Given the description of an element on the screen output the (x, y) to click on. 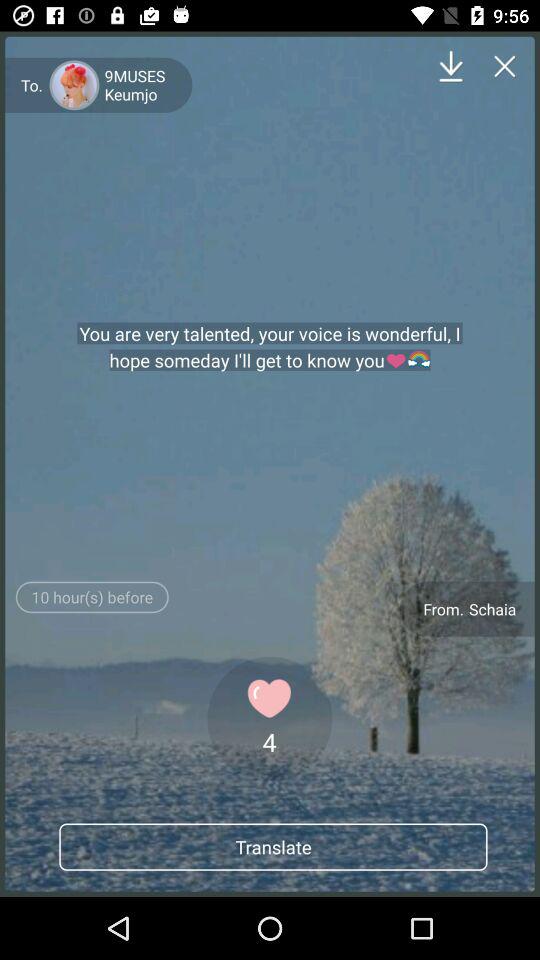
choose item to the right of the 9muses
keumjo (450, 65)
